Given the description of an element on the screen output the (x, y) to click on. 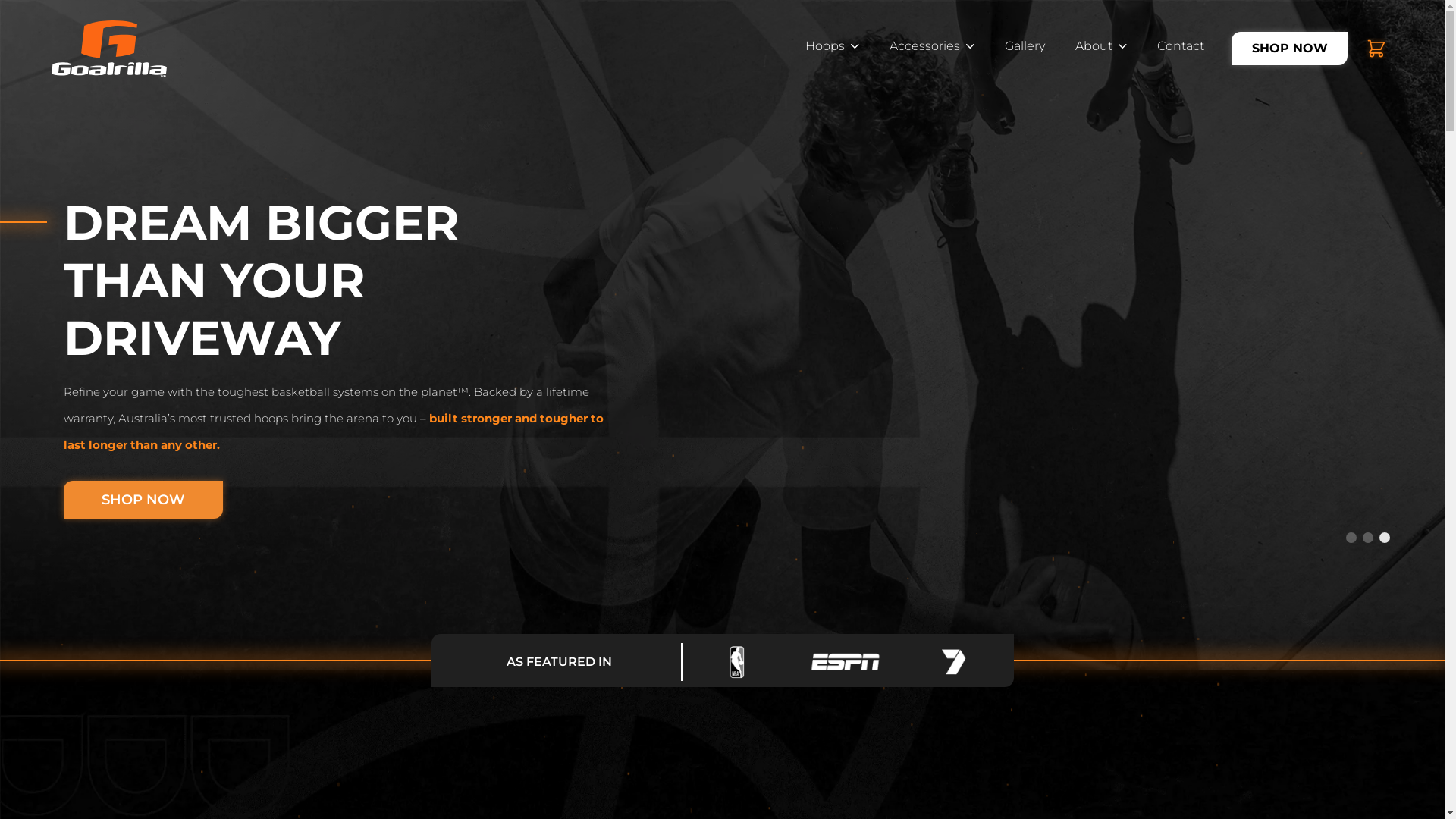
Accessories Element type: text (931, 47)
SHOP NOW Element type: text (1289, 47)
1 Element type: text (1351, 537)
Hoops Element type: text (832, 47)
Gallery Element type: text (1024, 47)
SHOP NOW Element type: text (1289, 47)
Contact Element type: text (1180, 47)
SHOP NOW Element type: text (370, 499)
About Element type: text (1100, 47)
2 Element type: text (1367, 537)
3 Element type: text (1384, 537)
SHOP NOW Element type: text (142, 499)
